Given the description of an element on the screen output the (x, y) to click on. 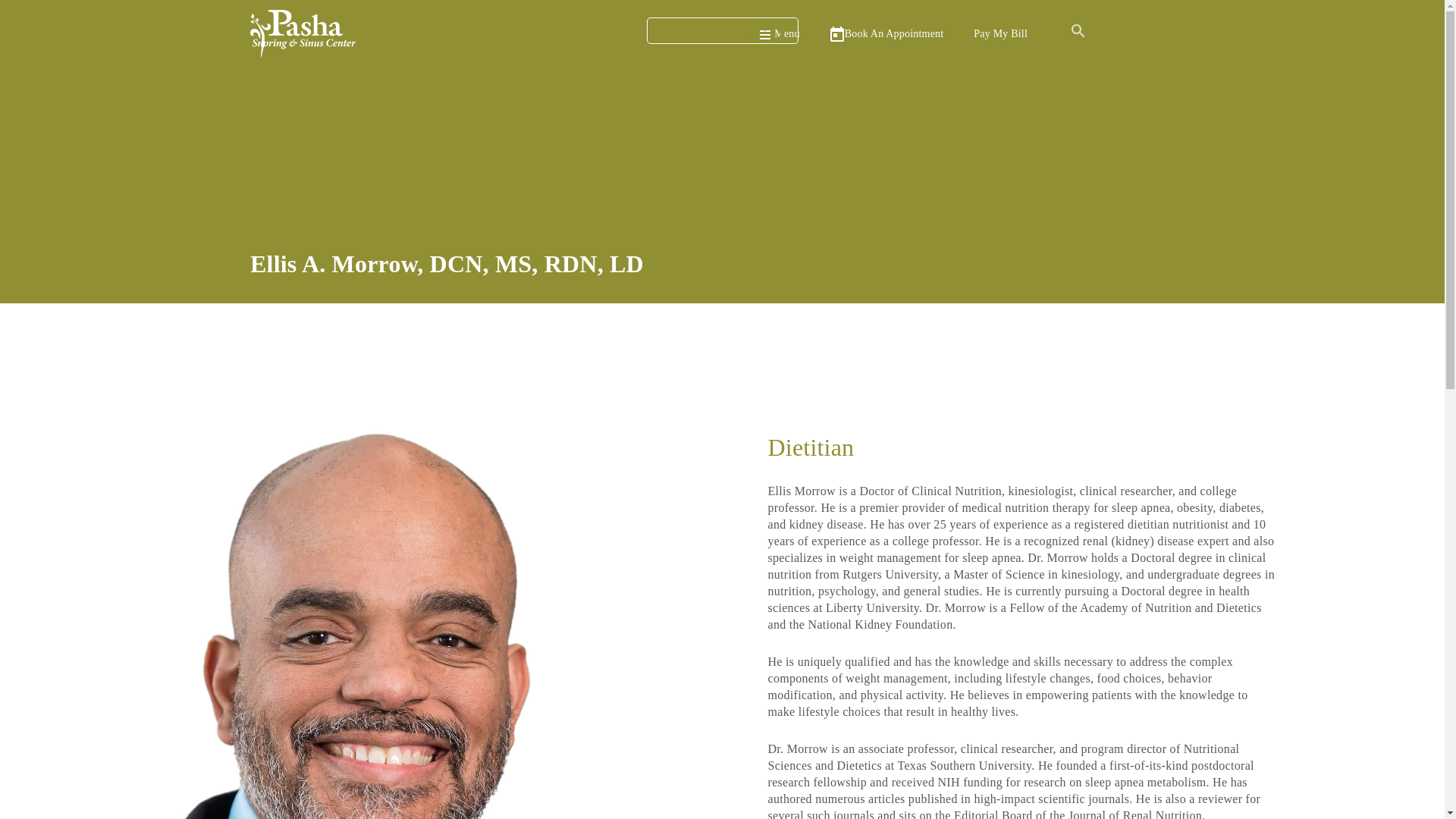
Search (721, 30)
Menu (778, 33)
